Given the description of an element on the screen output the (x, y) to click on. 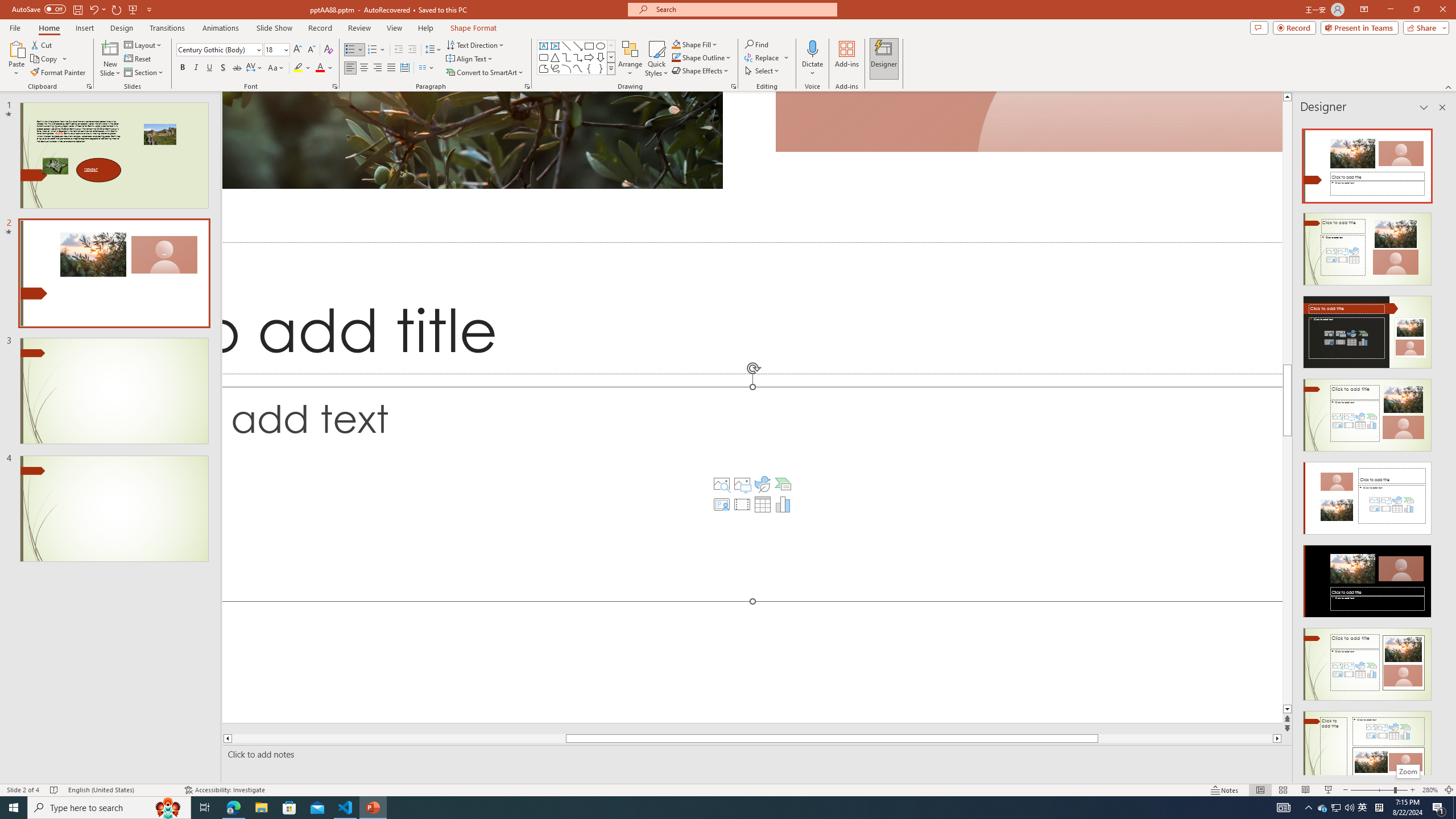
Normal (1260, 790)
Animations (220, 28)
Zoom Out (1372, 790)
Bullets (354, 49)
Font Size (273, 49)
Text Box (543, 45)
Line up (1287, 96)
Find... (756, 44)
Close (1442, 9)
Zoom (1379, 790)
Transitions (167, 28)
Minimize (1390, 9)
Connector: Elbow (566, 57)
